Given the description of an element on the screen output the (x, y) to click on. 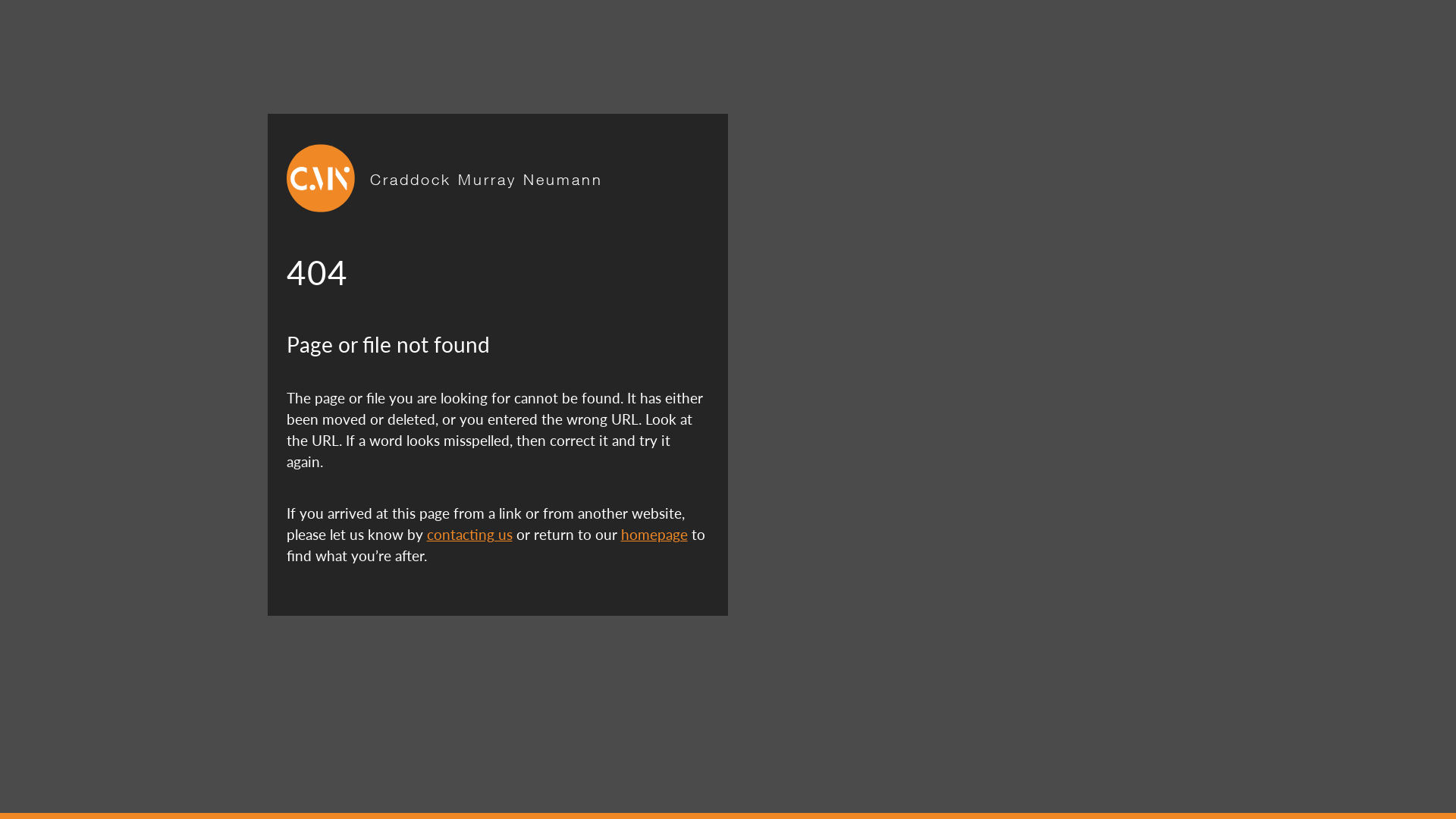
Craddock Murray Neumann Element type: text (486, 177)
contacting us Element type: text (468, 534)
homepage Element type: text (653, 534)
